Given the description of an element on the screen output the (x, y) to click on. 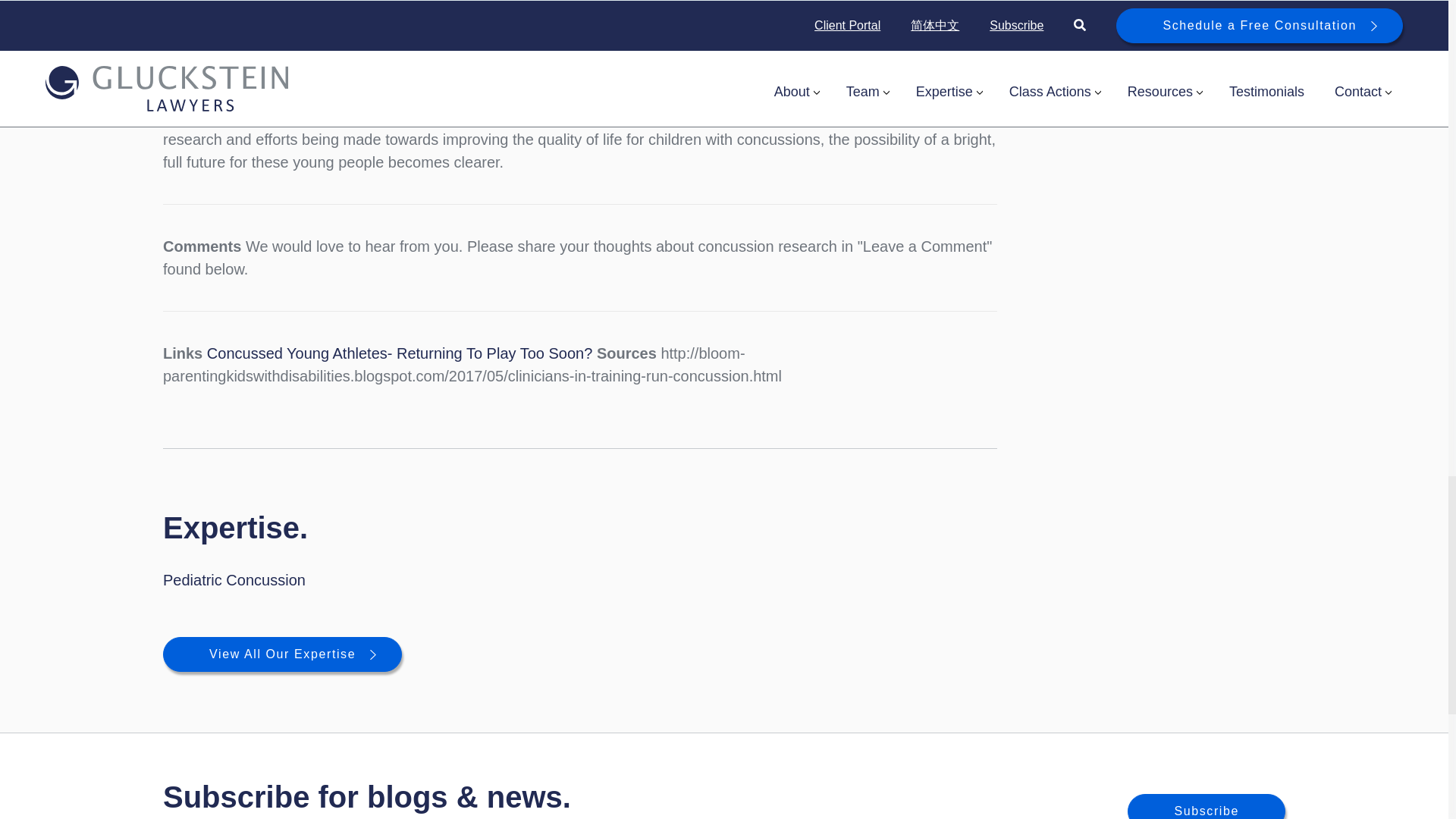
Pediatric Concussion (234, 579)
